Given the description of an element on the screen output the (x, y) to click on. 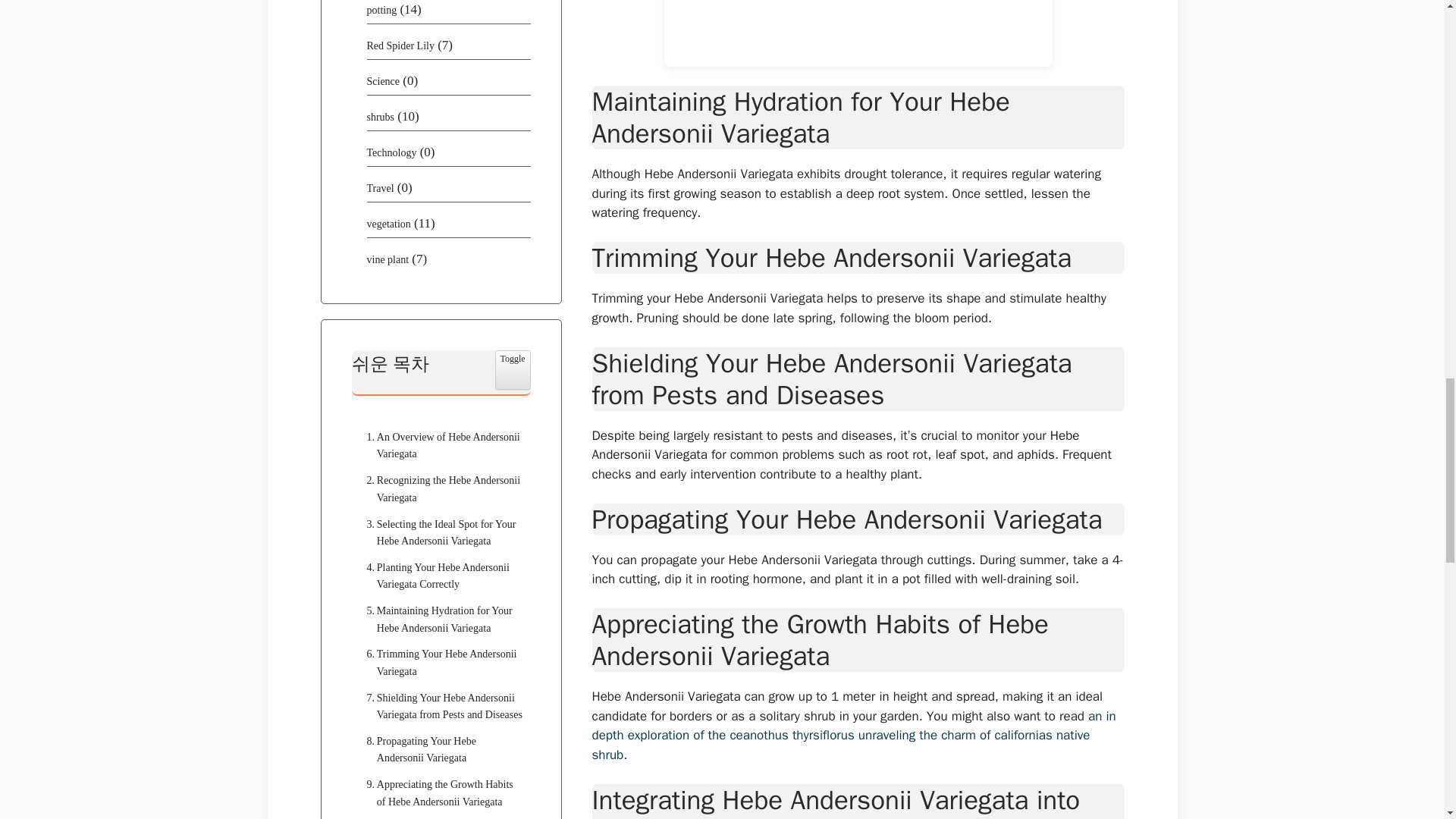
Selecting the Ideal Spot for Your Hebe Andersonii Variegata (440, 533)
Recognizing the Hebe Andersonii Variegata (440, 489)
An Overview of Hebe Andersonii Variegata (440, 446)
